Given the description of an element on the screen output the (x, y) to click on. 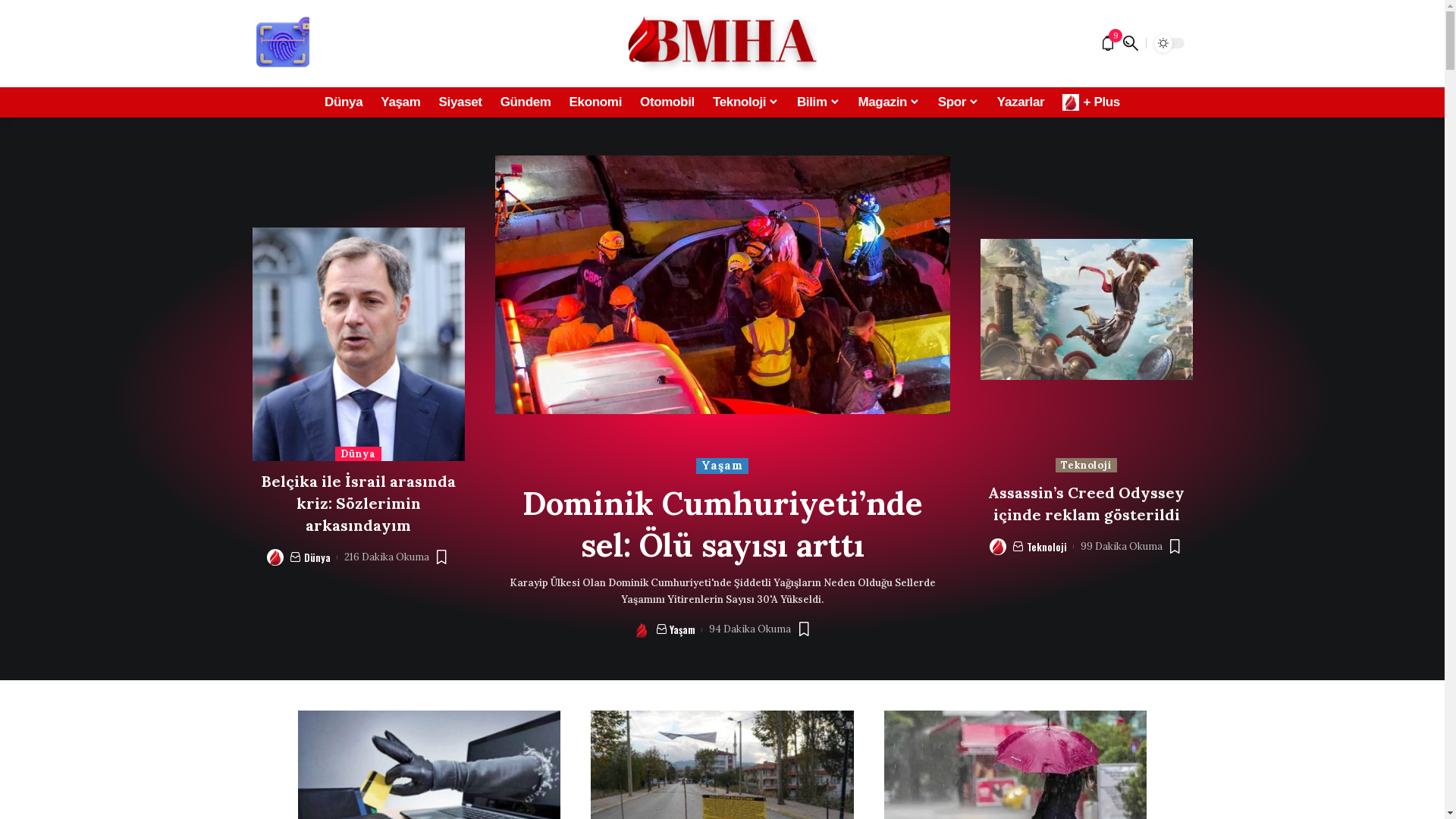
Teknoloji Element type: text (1046, 546)
Bilim Element type: text (818, 102)
9 Element type: text (1107, 42)
Teknoloji Element type: text (1086, 465)
Magazin Element type: text (888, 102)
Teknoloji Element type: text (745, 102)
Spor Element type: text (958, 102)
Otomobil Element type: text (666, 102)
Ekonomi Element type: text (595, 102)
+ Plus Element type: text (1091, 102)
Medya.Press Element type: hover (721, 43)
Siyaset Element type: text (460, 102)
Yazarlar Element type: text (1021, 102)
